Given the description of an element on the screen output the (x, y) to click on. 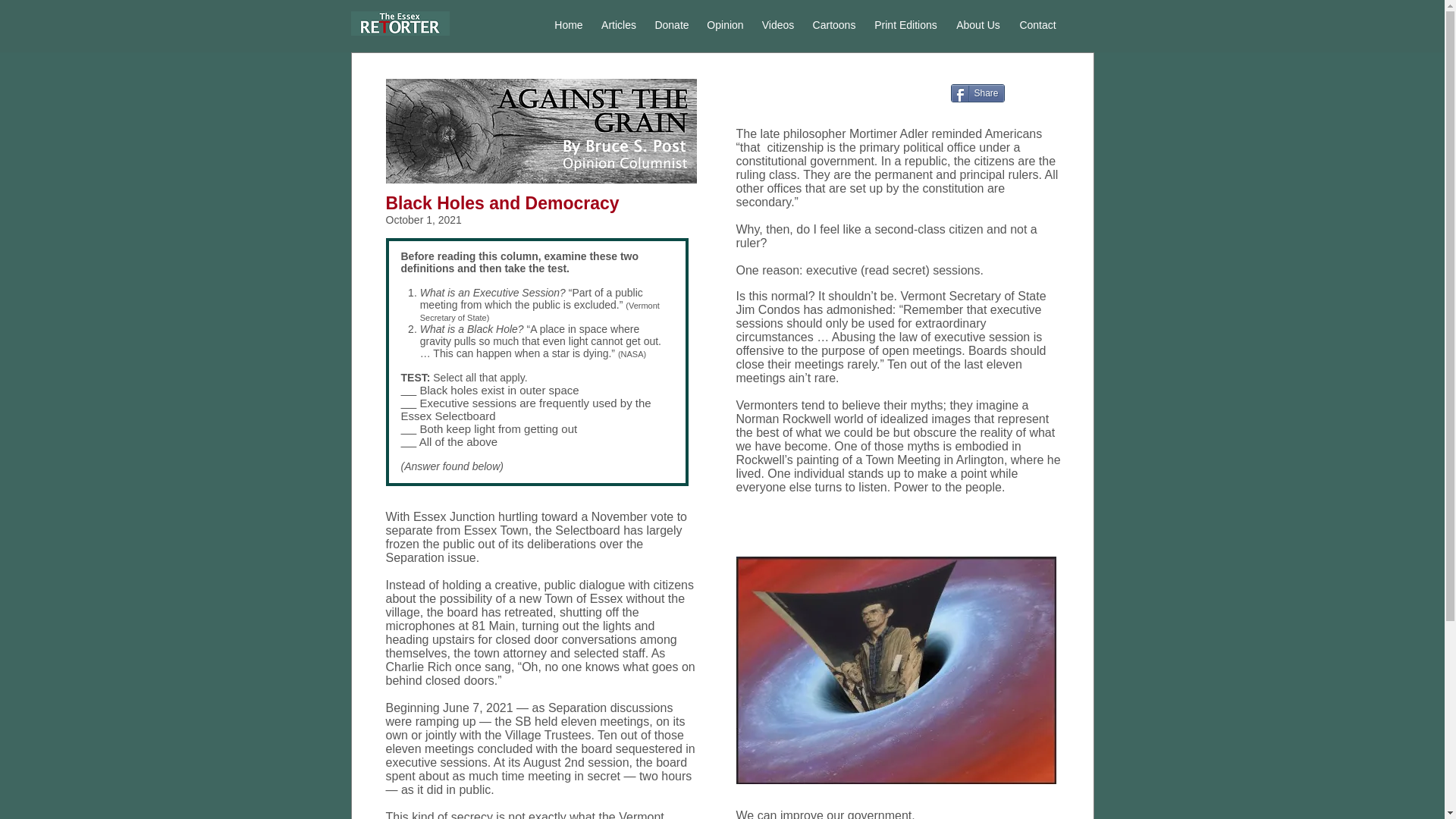
Share (977, 93)
Contact (1037, 24)
Cartoons (833, 24)
About Us (977, 24)
Share (977, 93)
Articles (618, 24)
Home (569, 24)
Videos (777, 24)
Print Editions (905, 24)
Donate (672, 24)
Twitter Tweet (1040, 92)
